Given the description of an element on the screen output the (x, y) to click on. 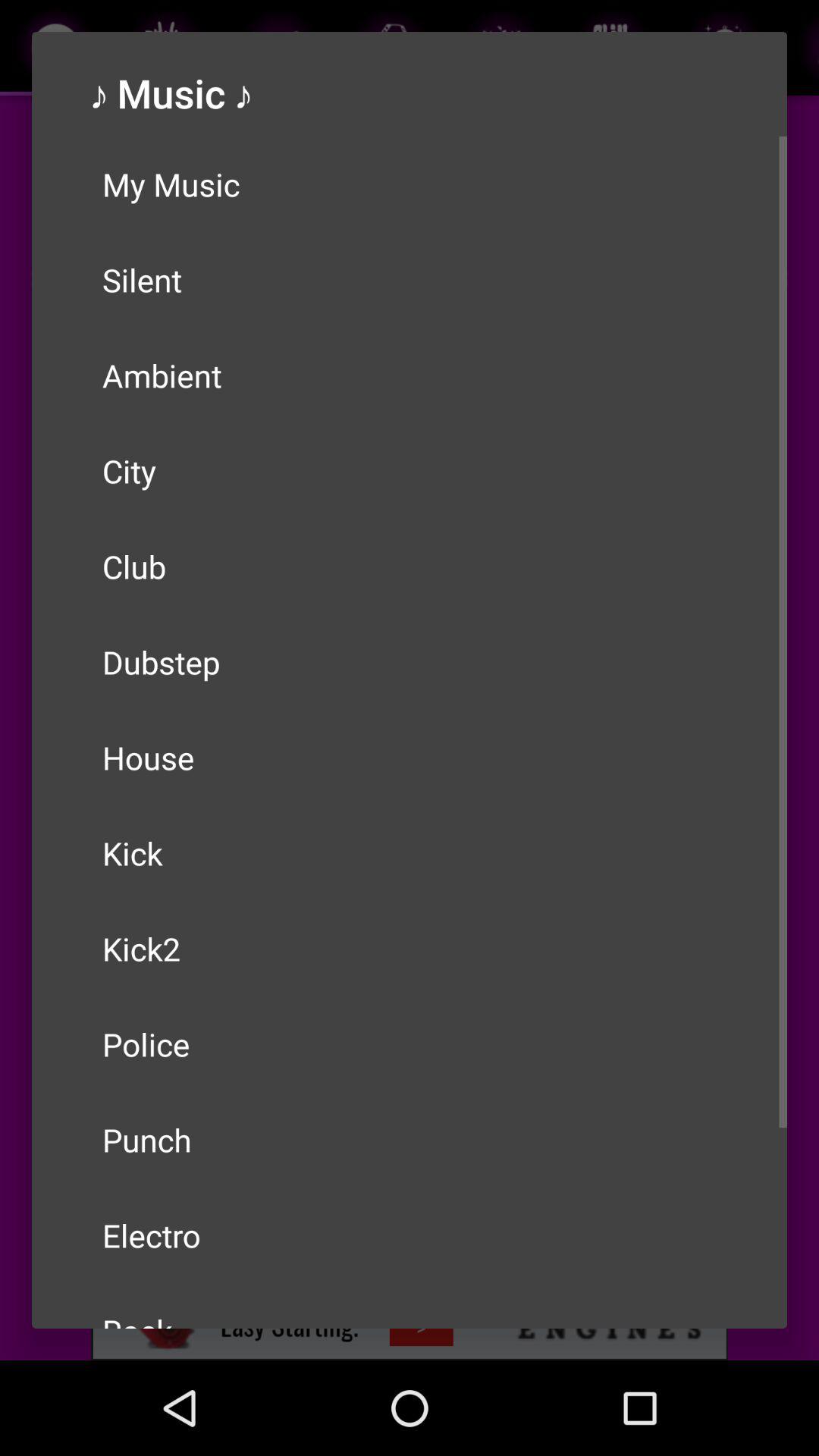
choose the icon below the 		silent item (409, 375)
